Given the description of an element on the screen output the (x, y) to click on. 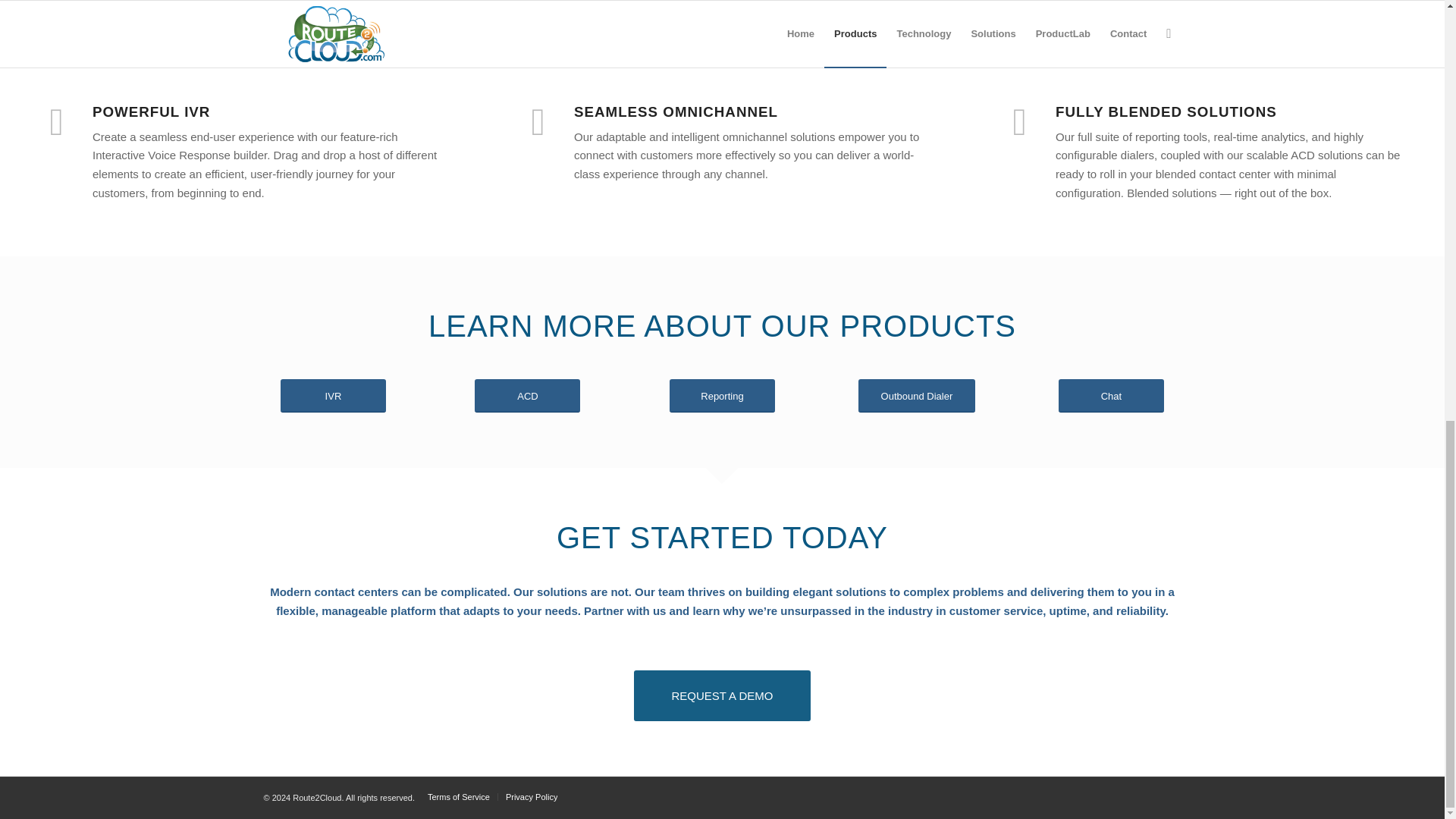
Reporting (721, 396)
Outbound Dialer (917, 396)
REQUEST A DEMO (721, 695)
Terms of Service (458, 796)
ACD (526, 396)
IVR (333, 396)
Chat (1110, 396)
Privacy Policy (531, 796)
